Given the description of an element on the screen output the (x, y) to click on. 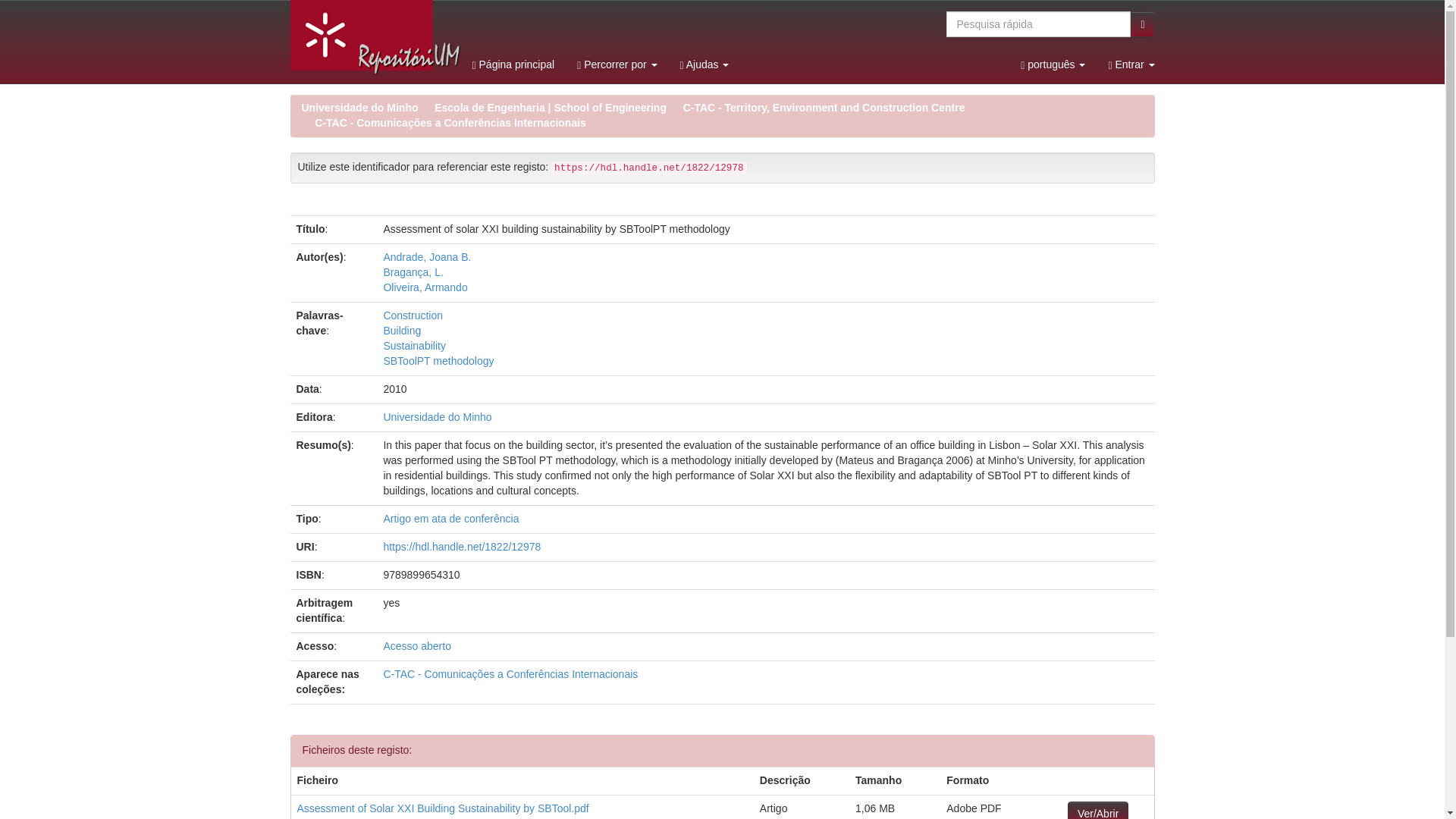
Entrar (1131, 64)
Ajudas (704, 64)
C-TAC - Territory, Environment and Construction Centre (823, 107)
Andrade, Joana B. (426, 256)
Percorrer por (617, 64)
Universidade do Minho (360, 107)
